Given the description of an element on the screen output the (x, y) to click on. 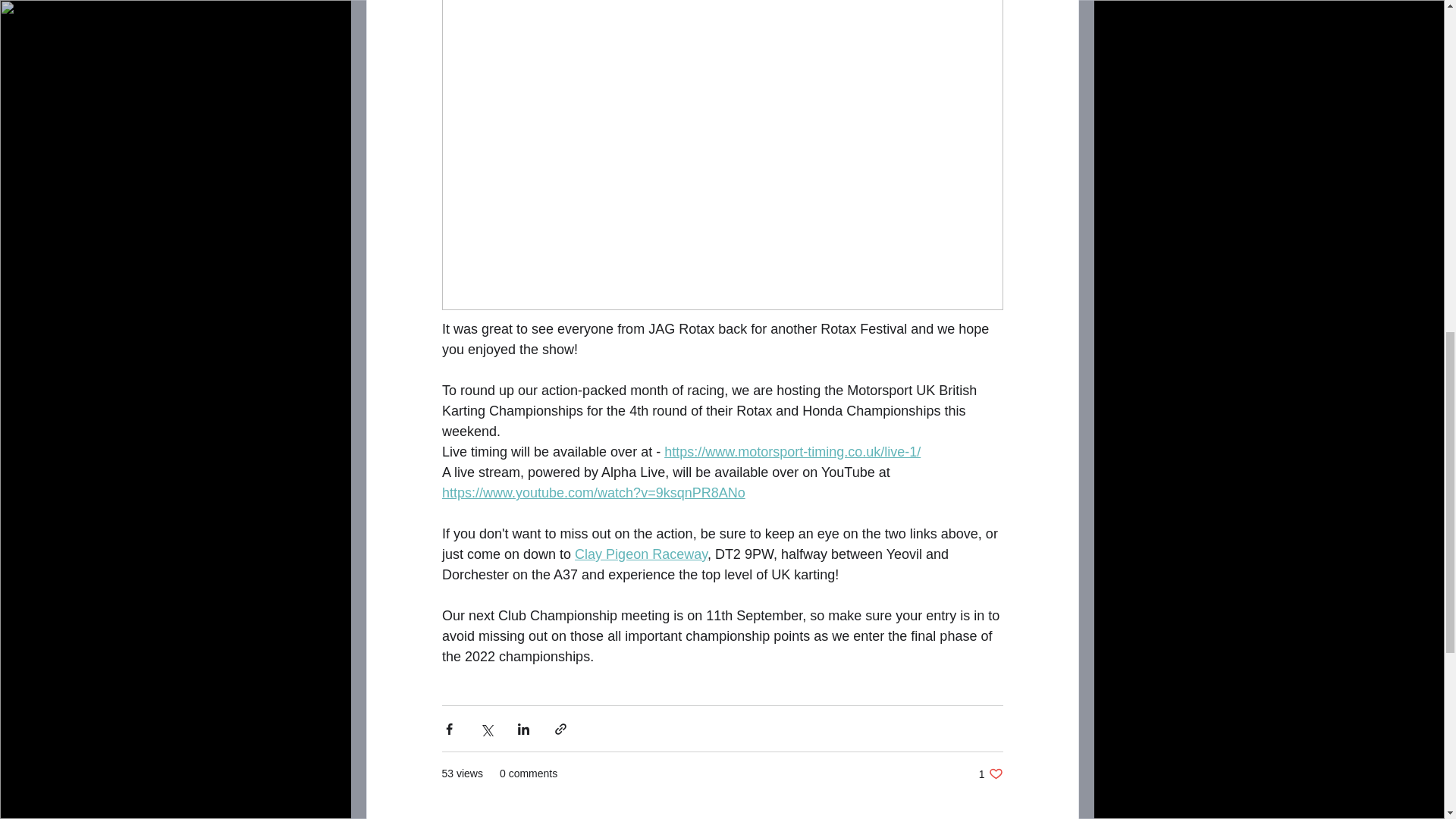
Clay Pigeon Raceway (641, 554)
